Given the description of an element on the screen output the (x, y) to click on. 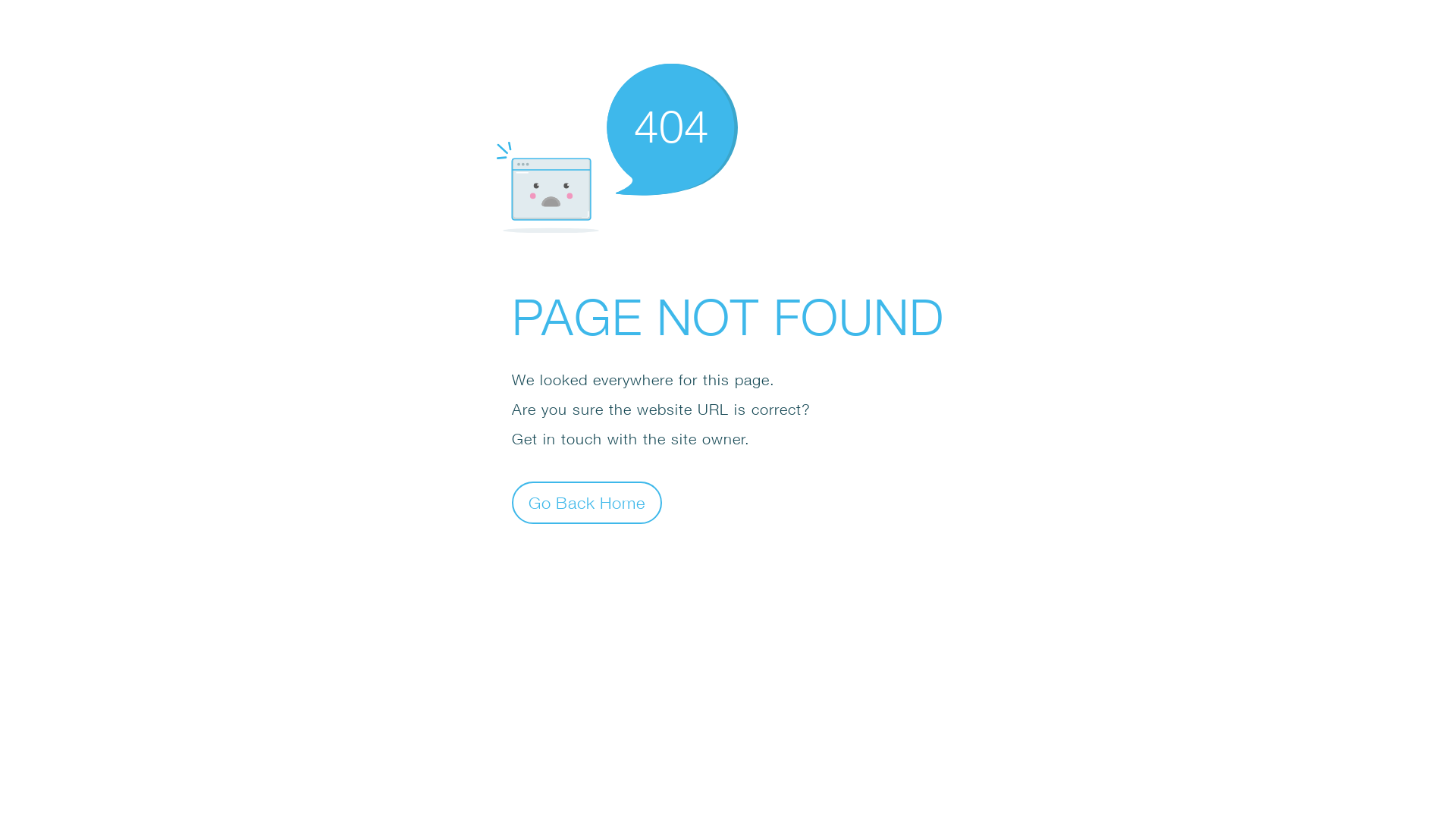
Go Back Home Element type: text (586, 502)
